Given the description of an element on the screen output the (x, y) to click on. 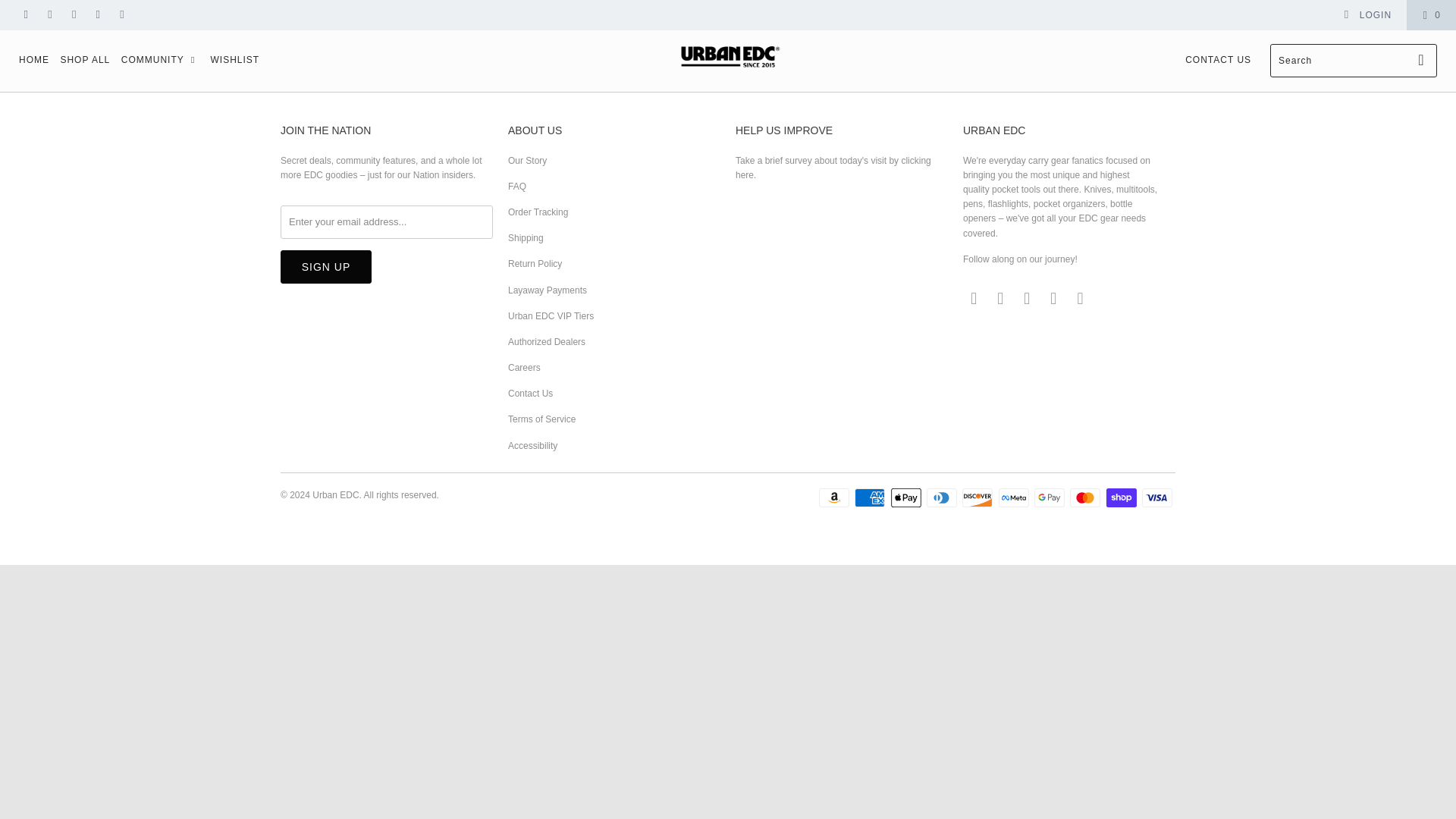
Urban EDC on Facebook (49, 14)
My Account  (1366, 15)
LOGIN (1366, 15)
Urban EDC on Instagram (121, 14)
WISHLIST (234, 60)
SHOP ALL (84, 60)
COMMUNITY (159, 60)
CONTACT US (1217, 60)
Sign Up (326, 266)
Urban EDC on Twitter (25, 14)
